Given the description of an element on the screen output the (x, y) to click on. 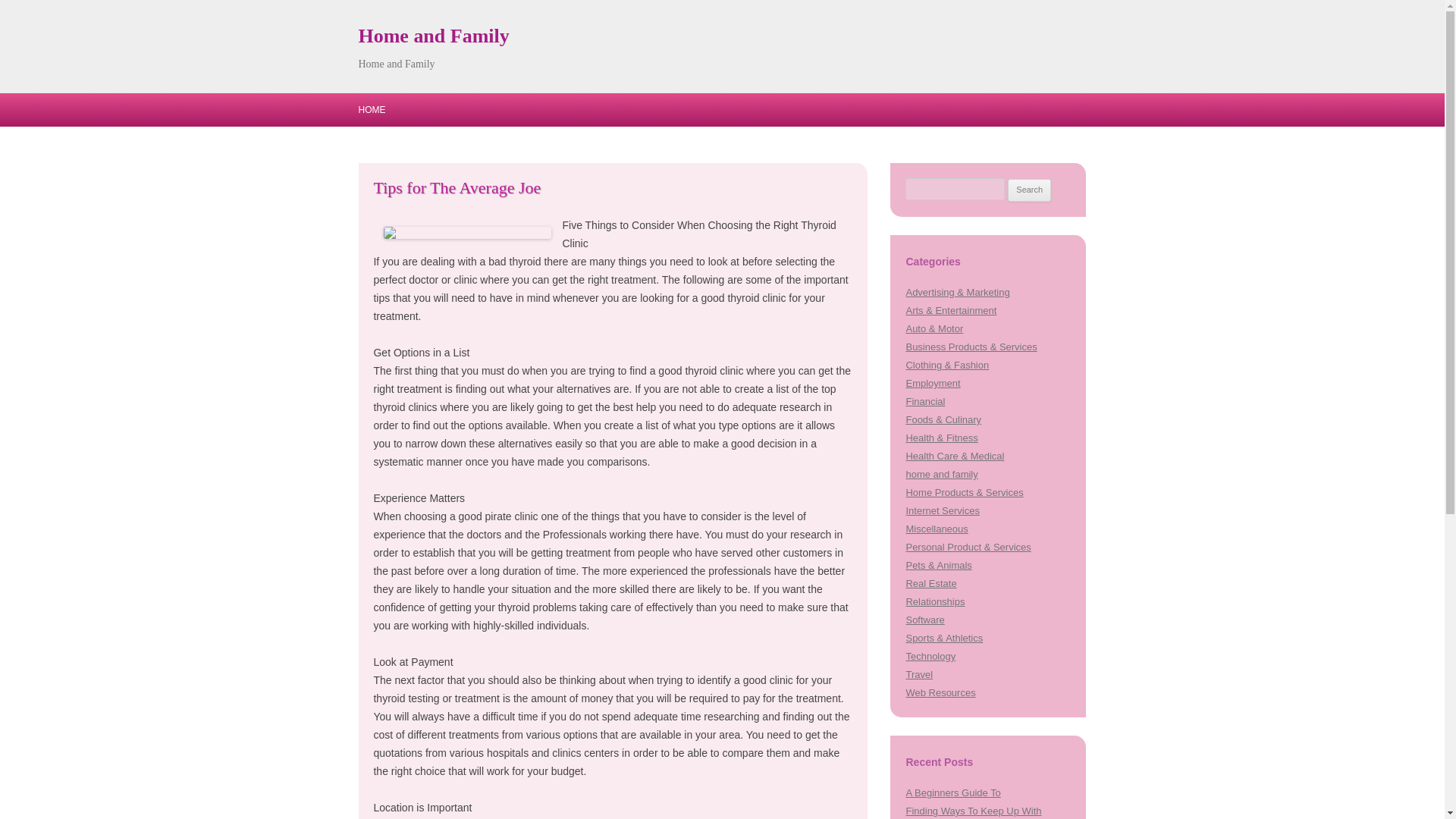
Real Estate (930, 583)
Search (1029, 190)
Financial (924, 401)
A Beginners Guide To (952, 792)
Search (1029, 190)
Technology (930, 655)
Finding Ways To Keep Up With (973, 810)
home and family (940, 473)
Software (924, 619)
Miscellaneous (936, 528)
Home and Family (433, 36)
Web Resources (940, 692)
Relationships (934, 601)
